Given the description of an element on the screen output the (x, y) to click on. 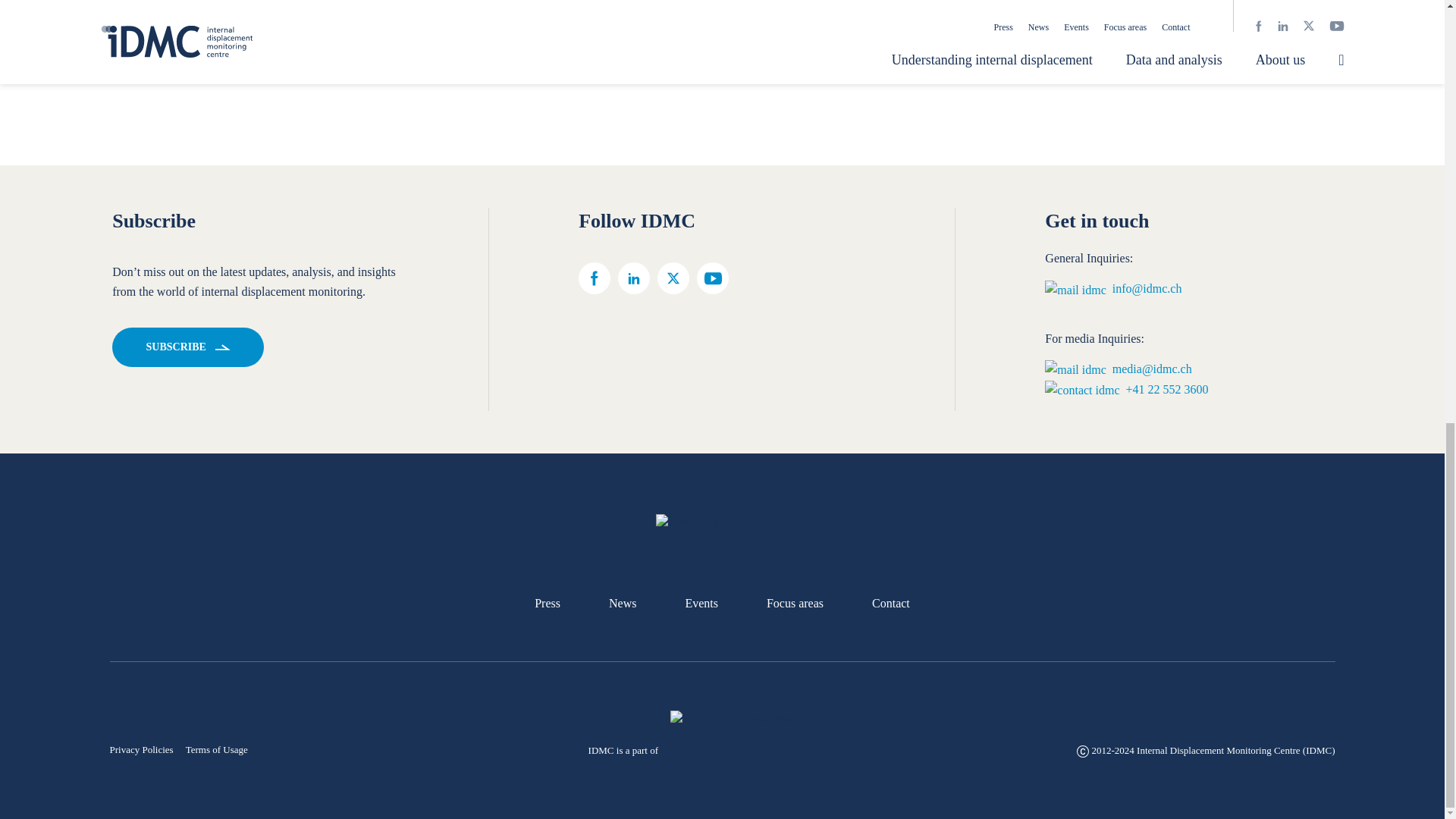
Events (700, 603)
Press (547, 603)
Focus areas (795, 603)
News (622, 603)
SUBSCRIBE (187, 346)
Contact (891, 603)
